Given the description of an element on the screen output the (x, y) to click on. 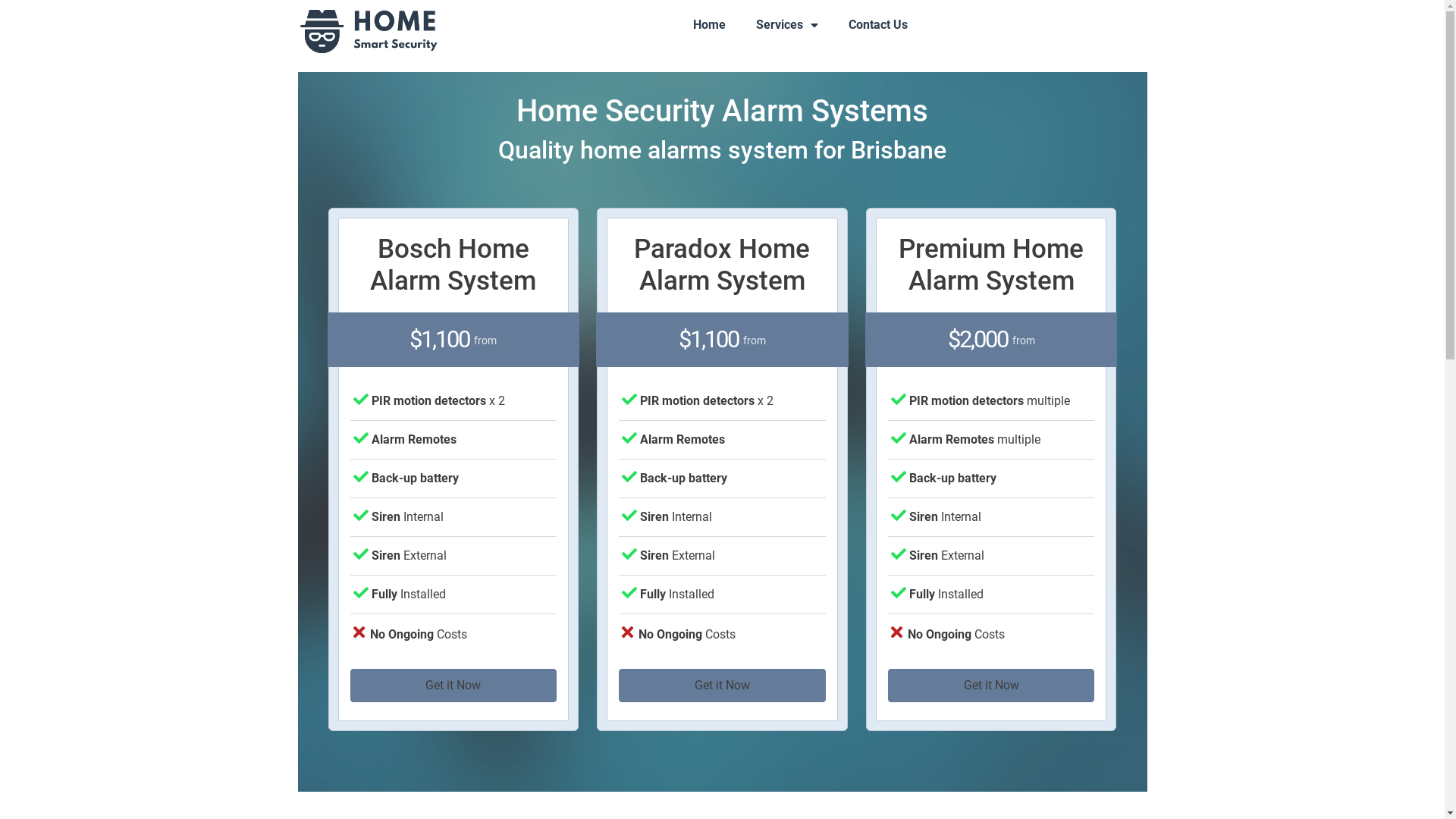
Get it Now Element type: text (453, 685)
Home Element type: text (708, 24)
Contact Us Element type: text (877, 24)
Get it Now Element type: text (991, 685)
Services Element type: text (786, 24)
Get it Now Element type: text (721, 685)
